Given the description of an element on the screen output the (x, y) to click on. 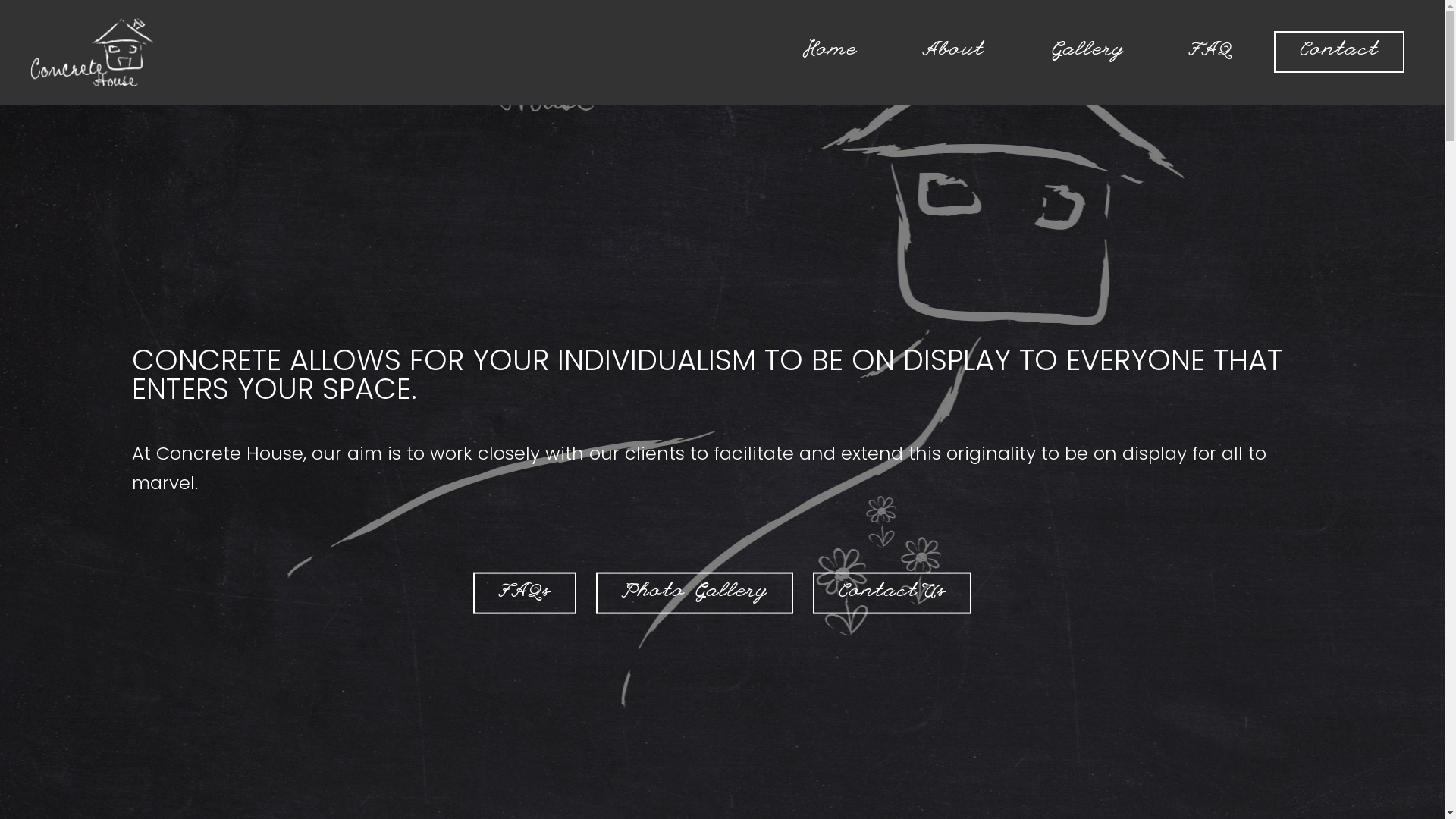
Contact Element type: text (1339, 51)
Gallery Element type: text (1086, 52)
Cardall Conveyancers Element type: hover (91, 52)
FAQs Element type: text (524, 593)
Photo Gallery Element type: text (694, 593)
Contact Us Element type: text (891, 593)
About Element type: text (952, 52)
Home Element type: text (829, 52)
FAQ Element type: text (1210, 52)
